Given the description of an element on the screen output the (x, y) to click on. 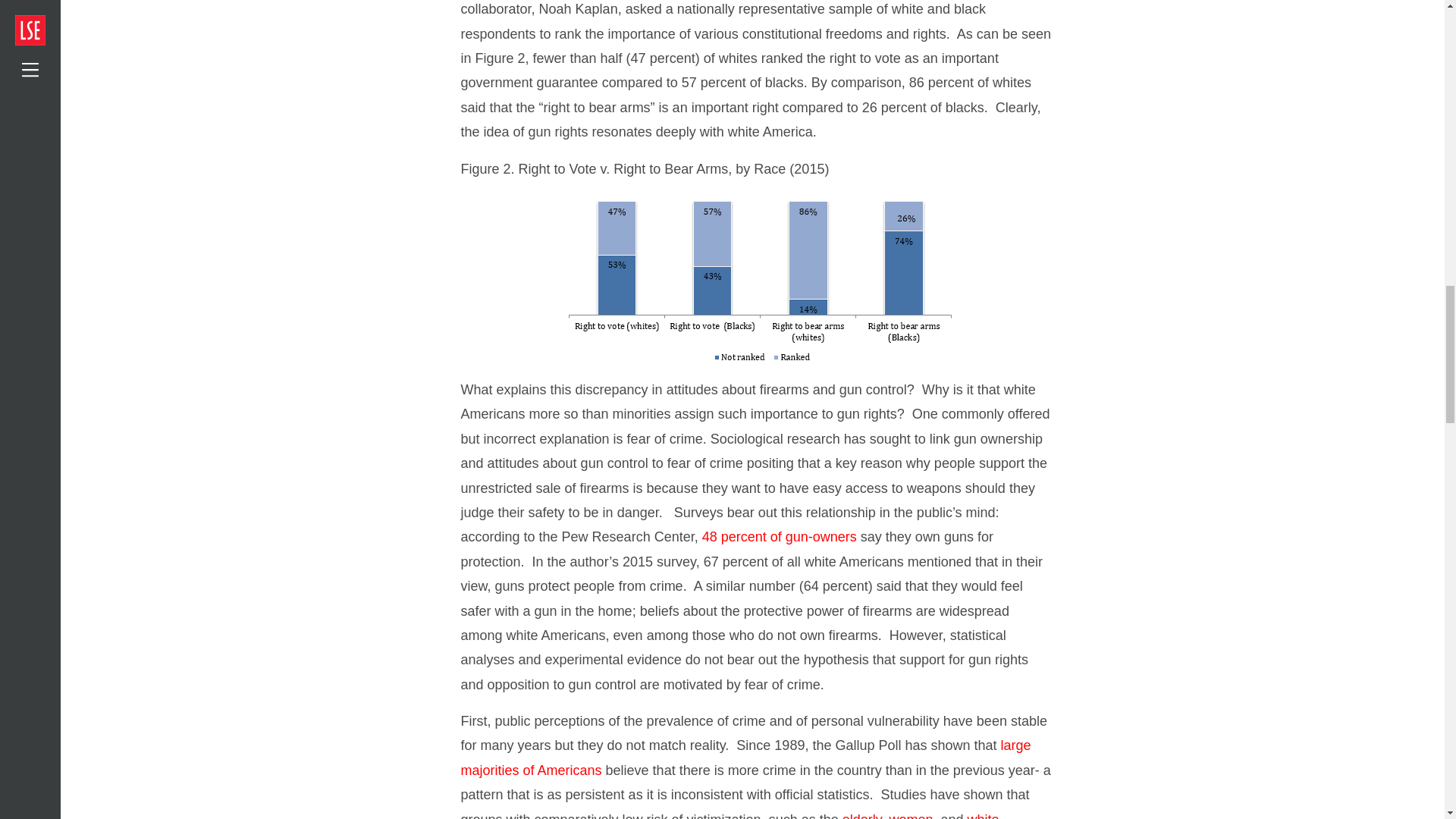
white individuals (729, 815)
48 percent of gun-owners (779, 536)
elderly (862, 815)
women (910, 815)
large majorities of Americans (745, 757)
